Given the description of an element on the screen output the (x, y) to click on. 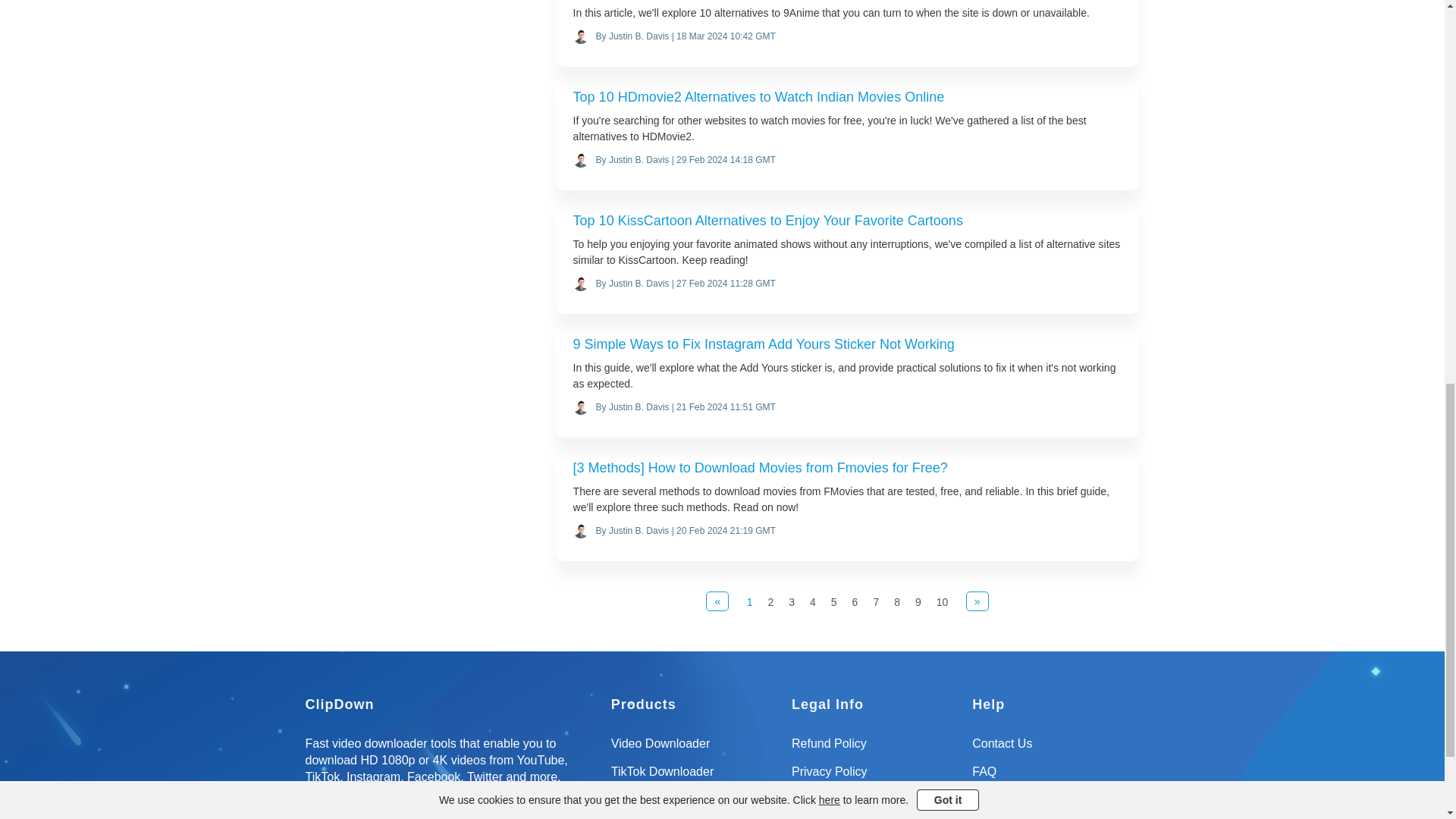
TikTok Downloader (694, 777)
Video Downloader (694, 749)
License Agreement (875, 805)
Blog (1055, 805)
Contact Us (1055, 749)
Refund Policy (875, 749)
Privacy Policy (875, 777)
FAQ (1055, 777)
10 (942, 602)
